Given the description of an element on the screen output the (x, y) to click on. 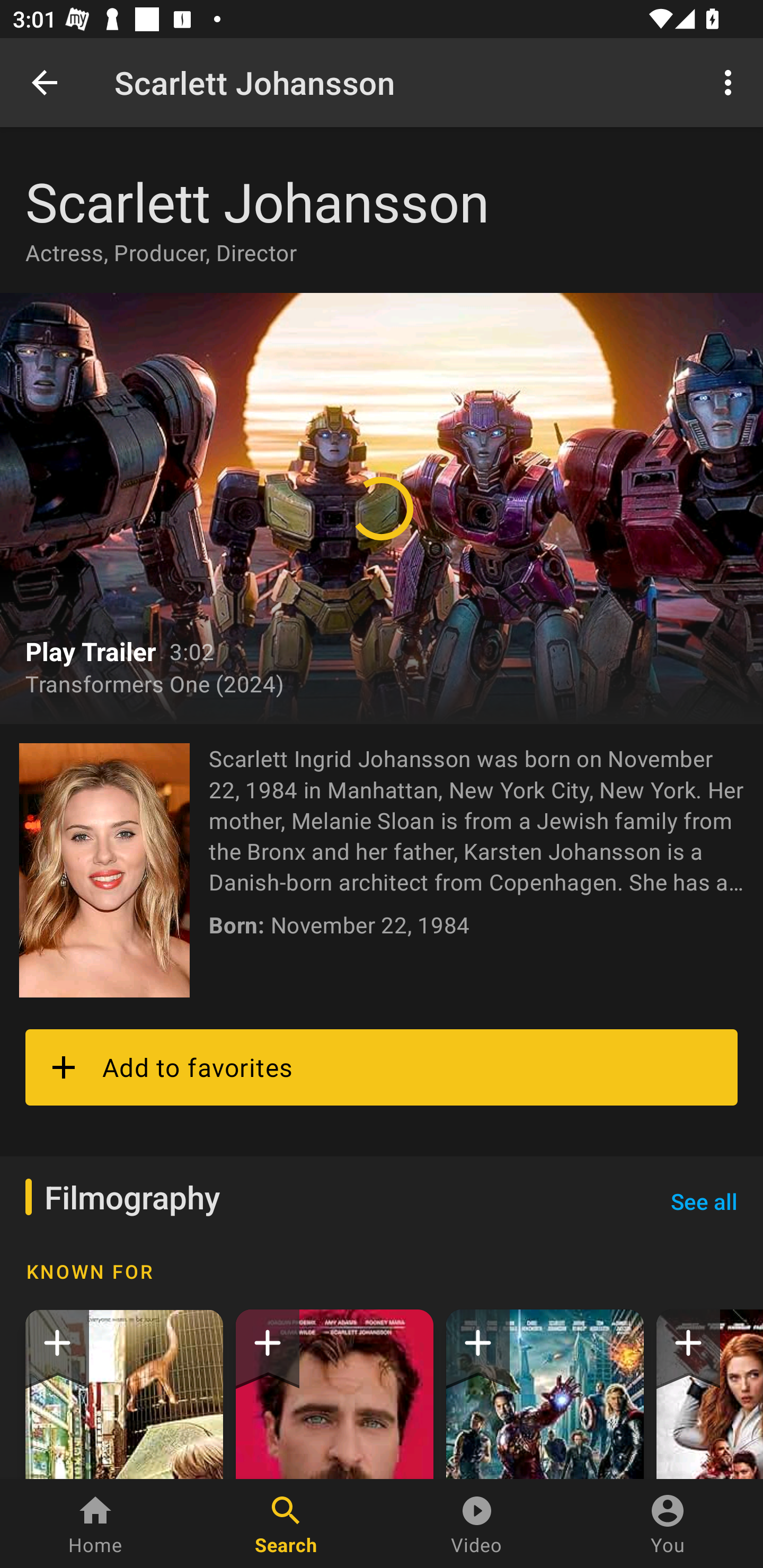
More options (731, 81)
Add to favorites (381, 1066)
See all See all  (703, 1201)
Home (95, 1523)
Video (476, 1523)
You (667, 1523)
